Given the description of an element on the screen output the (x, y) to click on. 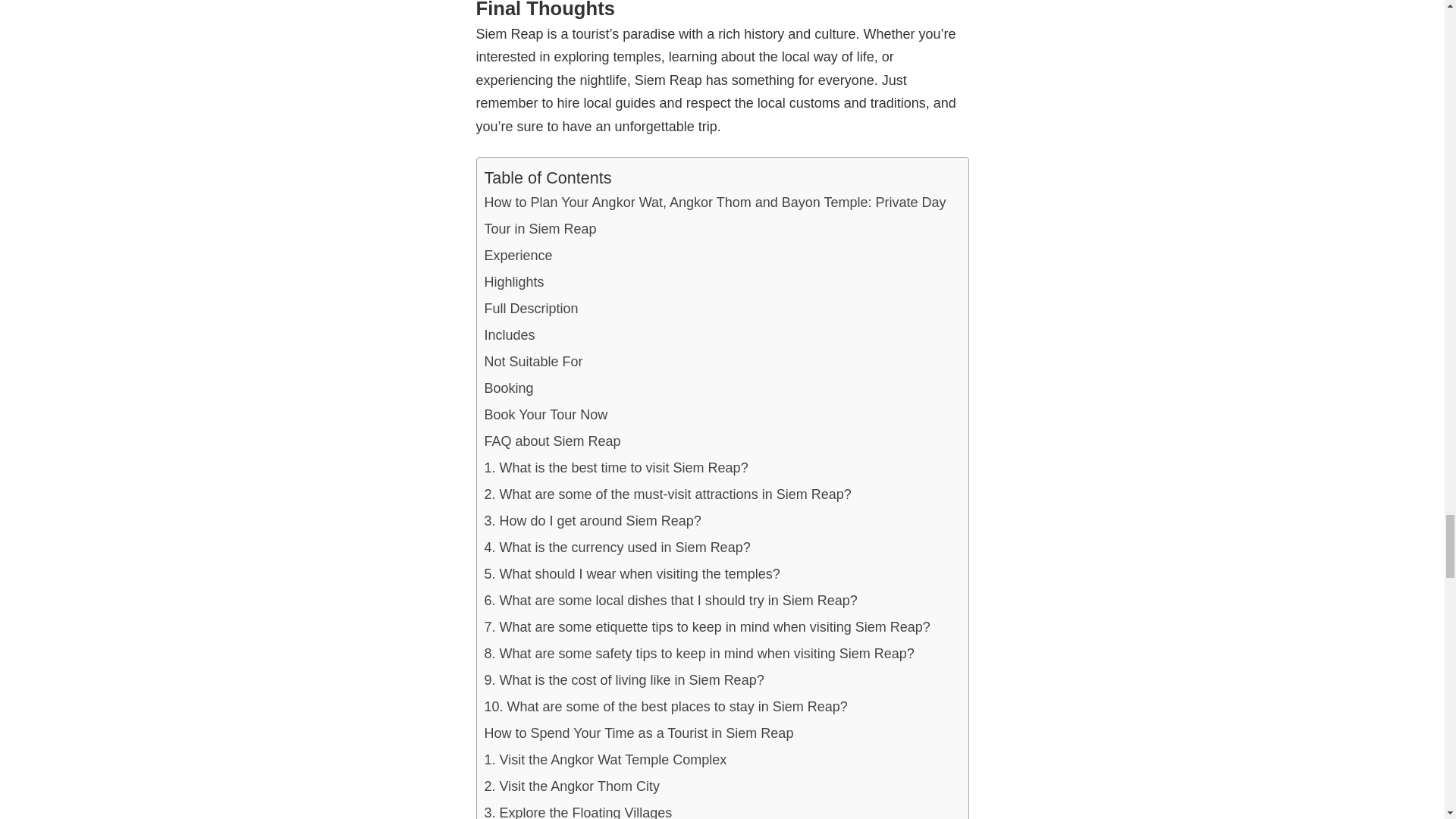
10. What are some of the best places to stay in Siem Reap? (665, 706)
Booking (507, 388)
Full Description (530, 308)
1. Visit the Angkor Wat Temple Complex (604, 759)
4. What is the currency used in Siem Reap? (616, 547)
5. What should I wear when visiting the temples? (630, 574)
FAQ about Siem Reap (551, 441)
Highlights (513, 282)
Experience (517, 255)
Booking (507, 388)
Experience (517, 255)
Highlights (513, 282)
2. What are some of the must-visit attractions in Siem Reap? (666, 494)
Includes (508, 335)
